Given the description of an element on the screen output the (x, y) to click on. 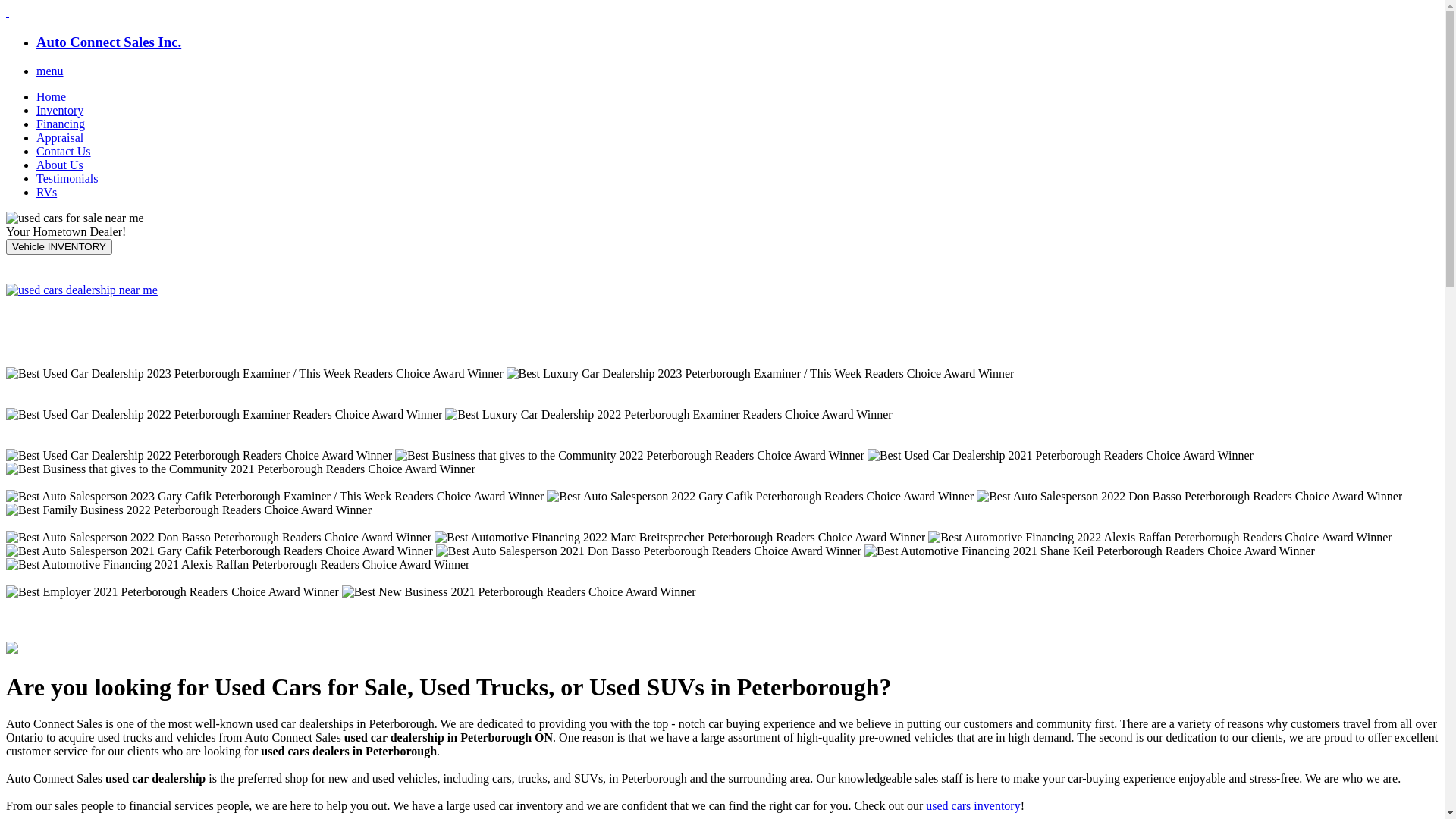
Appraisal Element type: text (59, 137)
Vehicle INVENTORY Element type: text (59, 246)
menu Element type: text (49, 70)
Testimonials Element type: text (67, 178)
RVs Element type: text (46, 191)
  Element type: text (7, 12)
Financing Element type: text (60, 123)
About Us Element type: text (59, 164)
Auto Connect Sales Inc. Element type: text (108, 42)
Click here to Apply Now Element type: hover (81, 289)
used cars inventory Element type: text (972, 805)
Inventory Element type: text (59, 109)
Vehicle INVENTORY Element type: text (59, 245)
Contact Us Element type: text (63, 150)
Home Element type: text (50, 96)
